Given the description of an element on the screen output the (x, y) to click on. 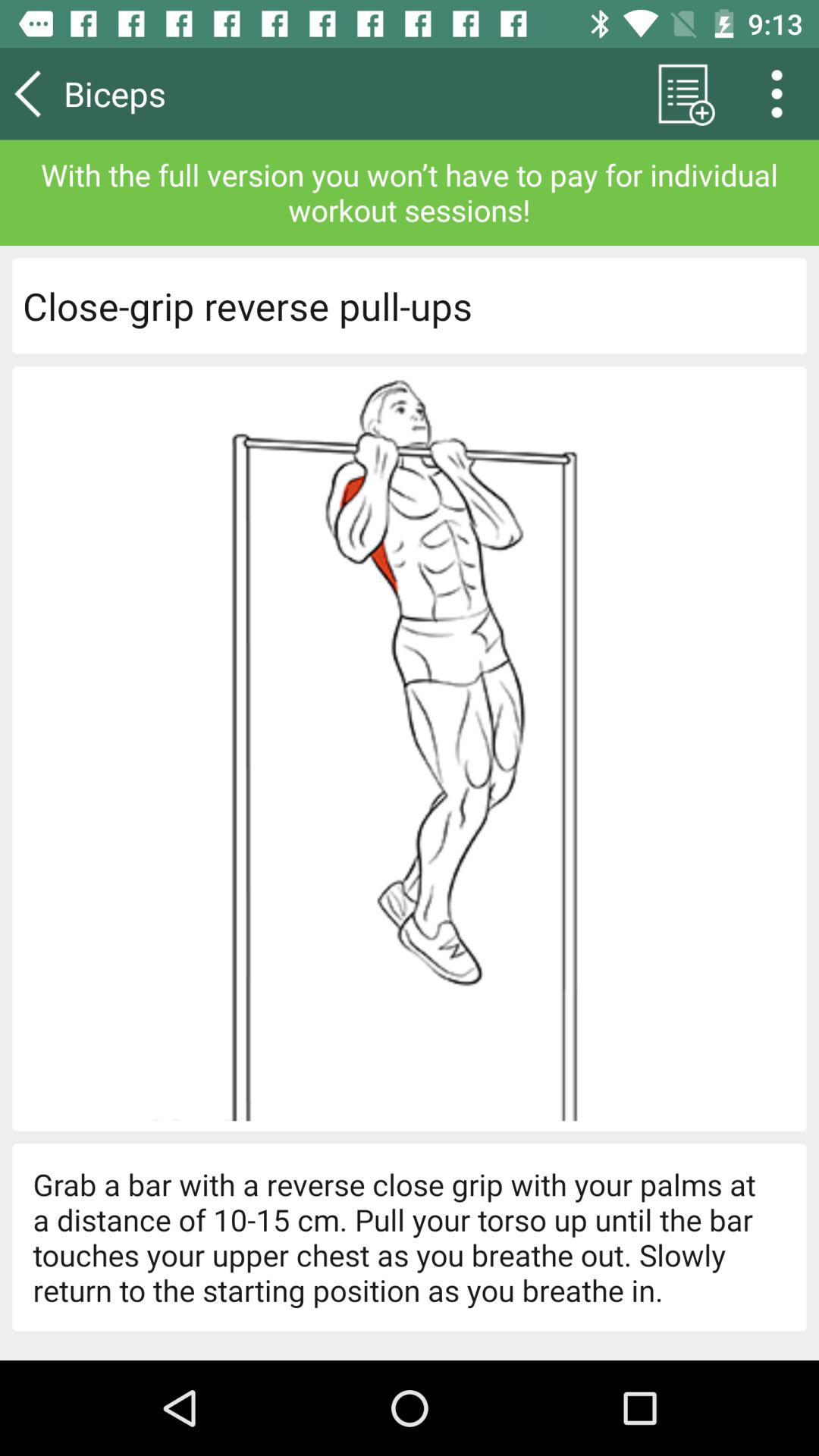
click item above with the full (157, 93)
